Given the description of an element on the screen output the (x, y) to click on. 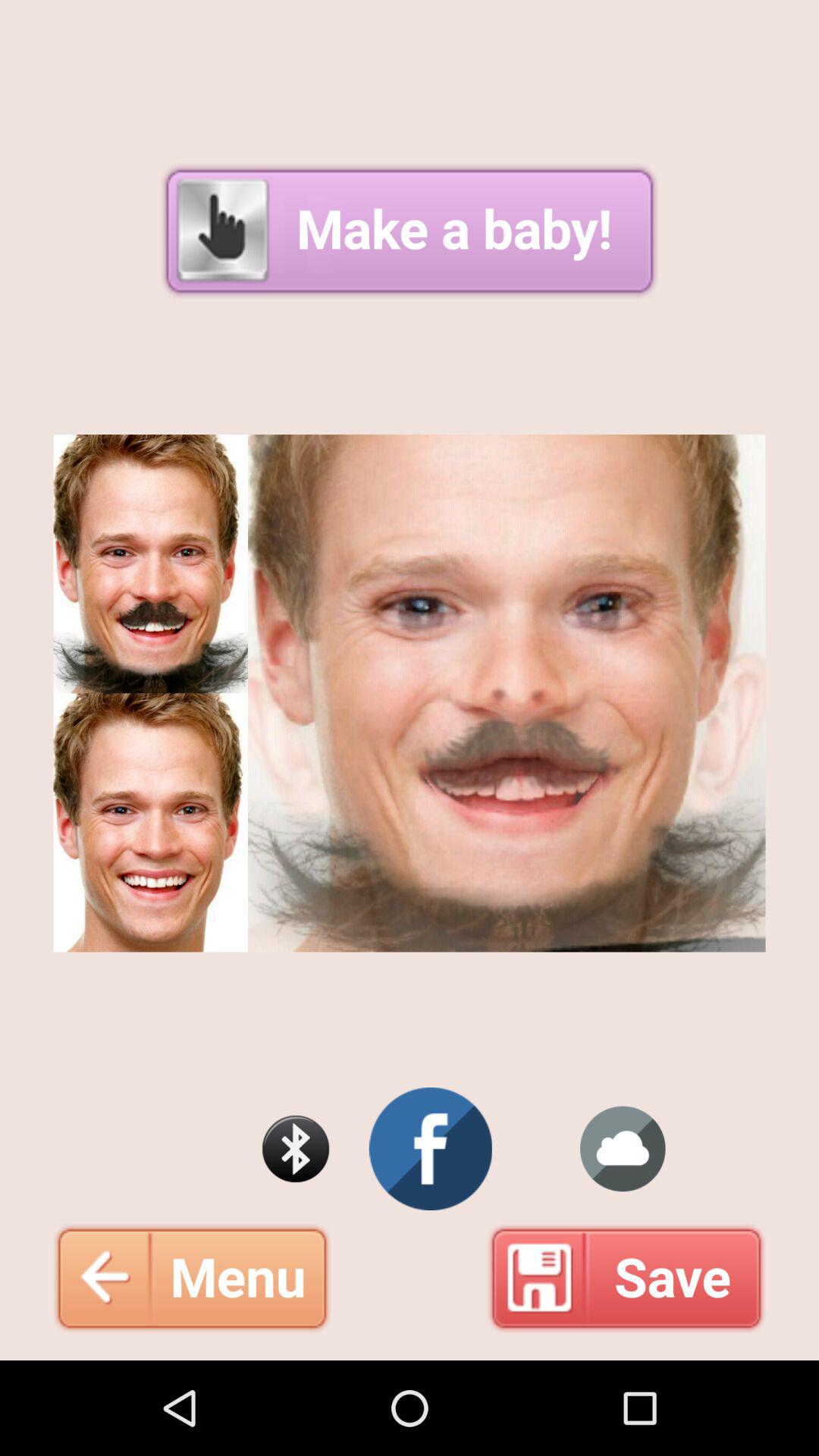
visit facebook page (430, 1148)
